Given the description of an element on the screen output the (x, y) to click on. 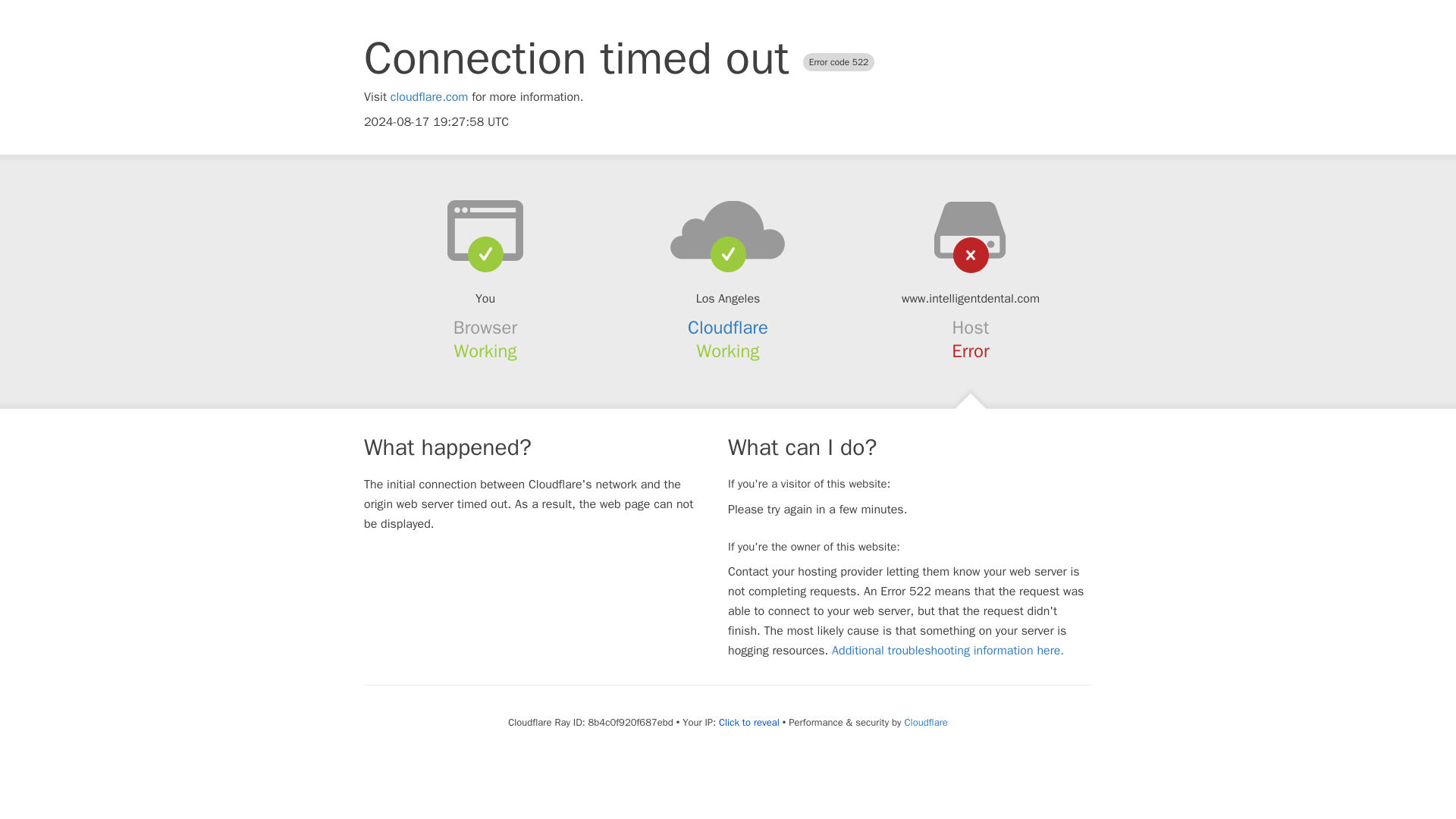
Cloudflare (925, 721)
Additional troubleshooting information here. (947, 650)
cloudflare.com (429, 96)
Click to reveal (748, 722)
Cloudflare (727, 327)
